Given the description of an element on the screen output the (x, y) to click on. 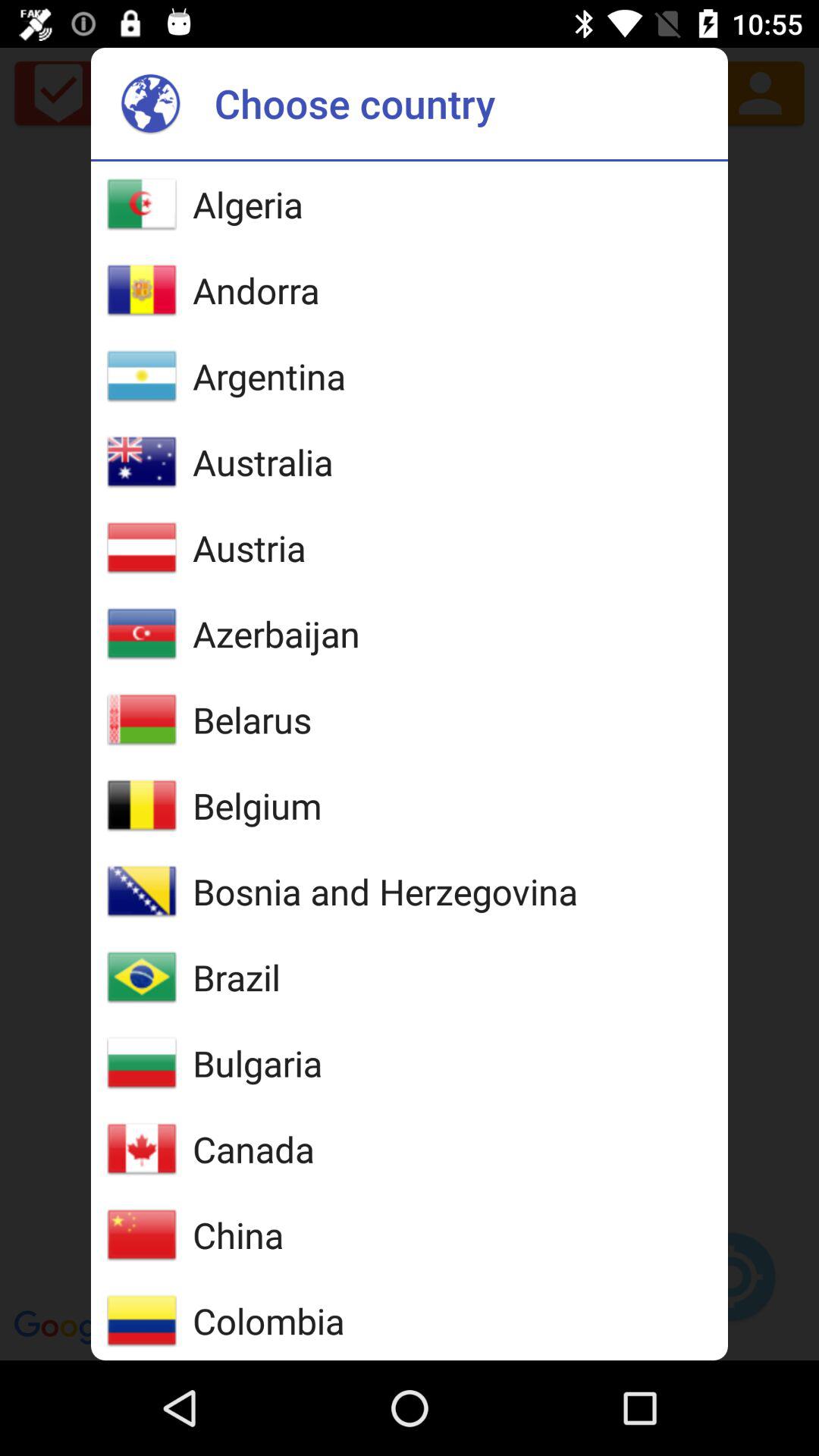
tap icon above china item (253, 1148)
